Given the description of an element on the screen output the (x, y) to click on. 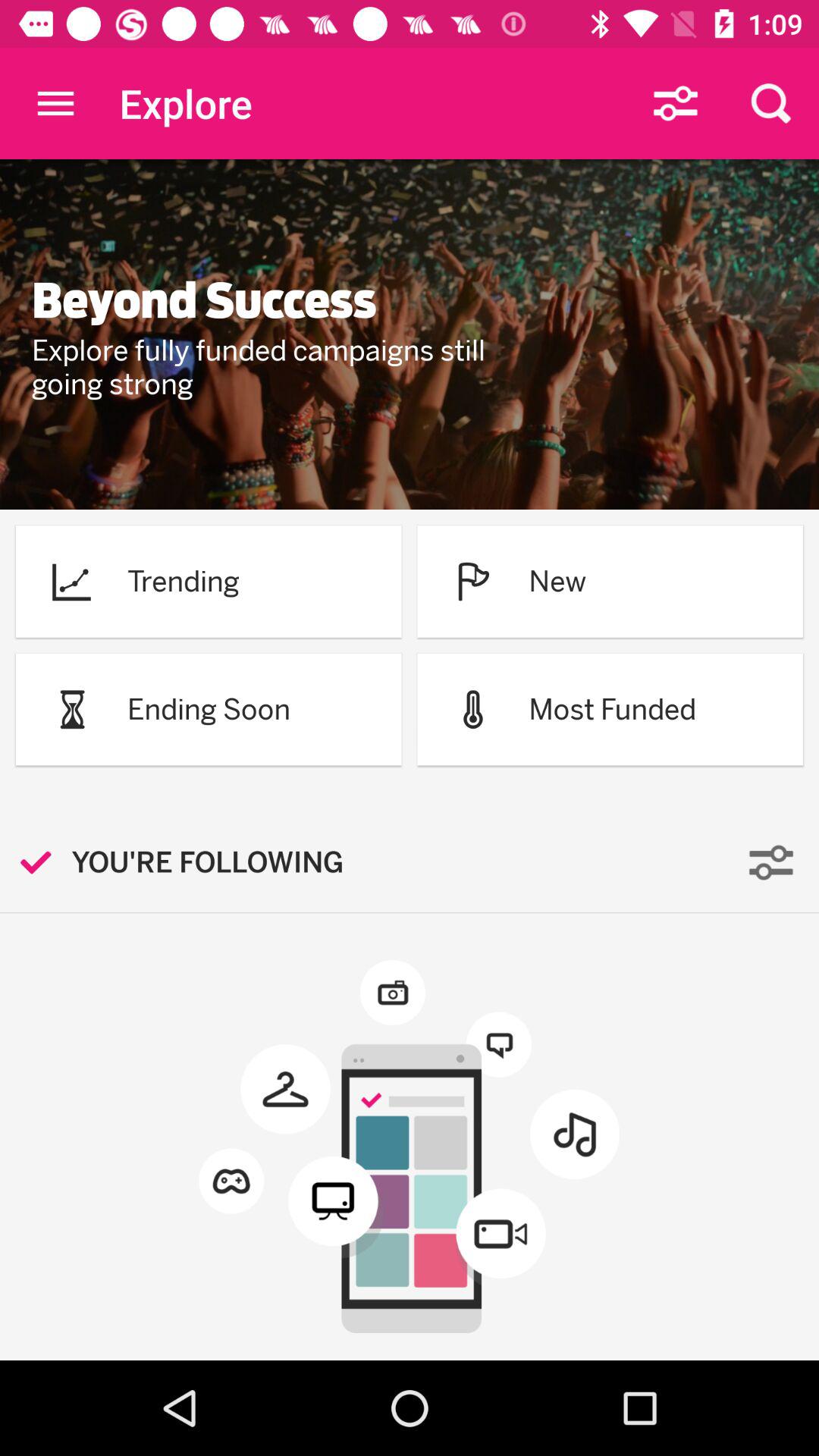
click the icon next to the trending (71, 581)
